Given the description of an element on the screen output the (x, y) to click on. 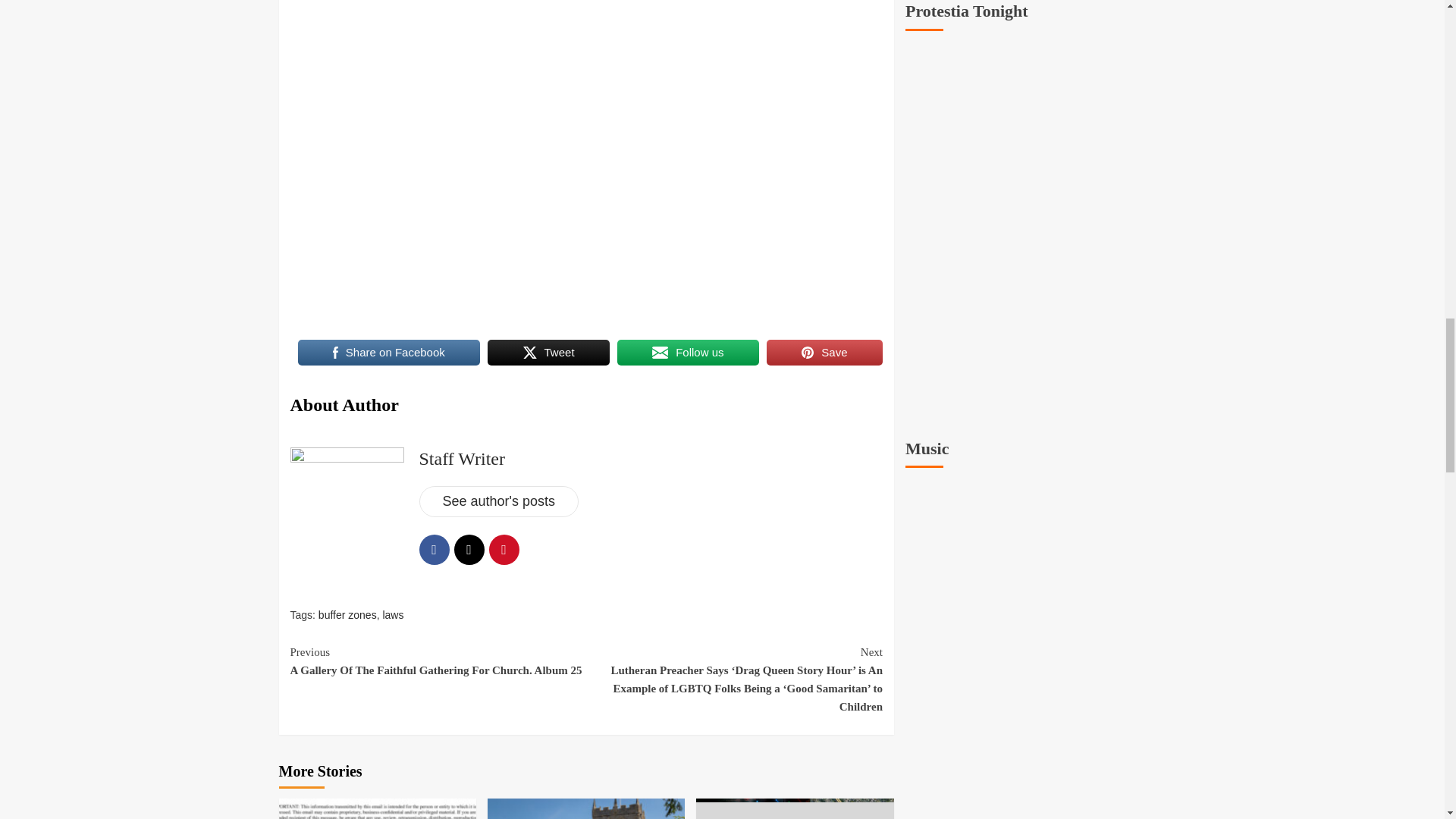
Share on Facebook (388, 352)
Tweet (548, 352)
buffer zones (347, 614)
See author's posts (498, 501)
Save (824, 352)
Staff Writer (461, 458)
laws (392, 614)
Follow us (687, 352)
